Given the description of an element on the screen output the (x, y) to click on. 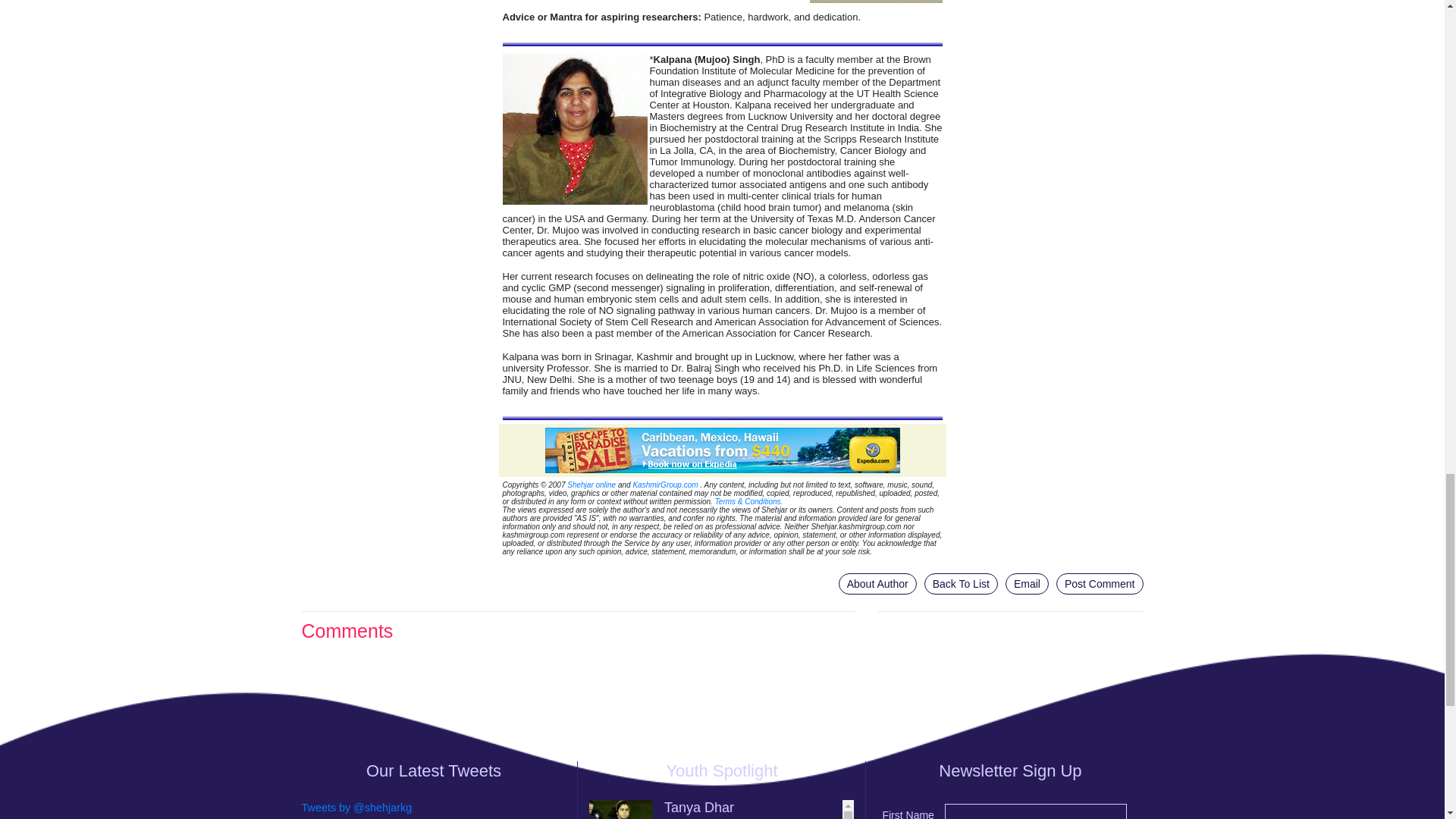
Shehjar online (591, 484)
Email (1027, 583)
KashmirGroup.com (664, 484)
Post Comment (1099, 583)
About Author (877, 583)
Back To List (960, 583)
